Given the description of an element on the screen output the (x, y) to click on. 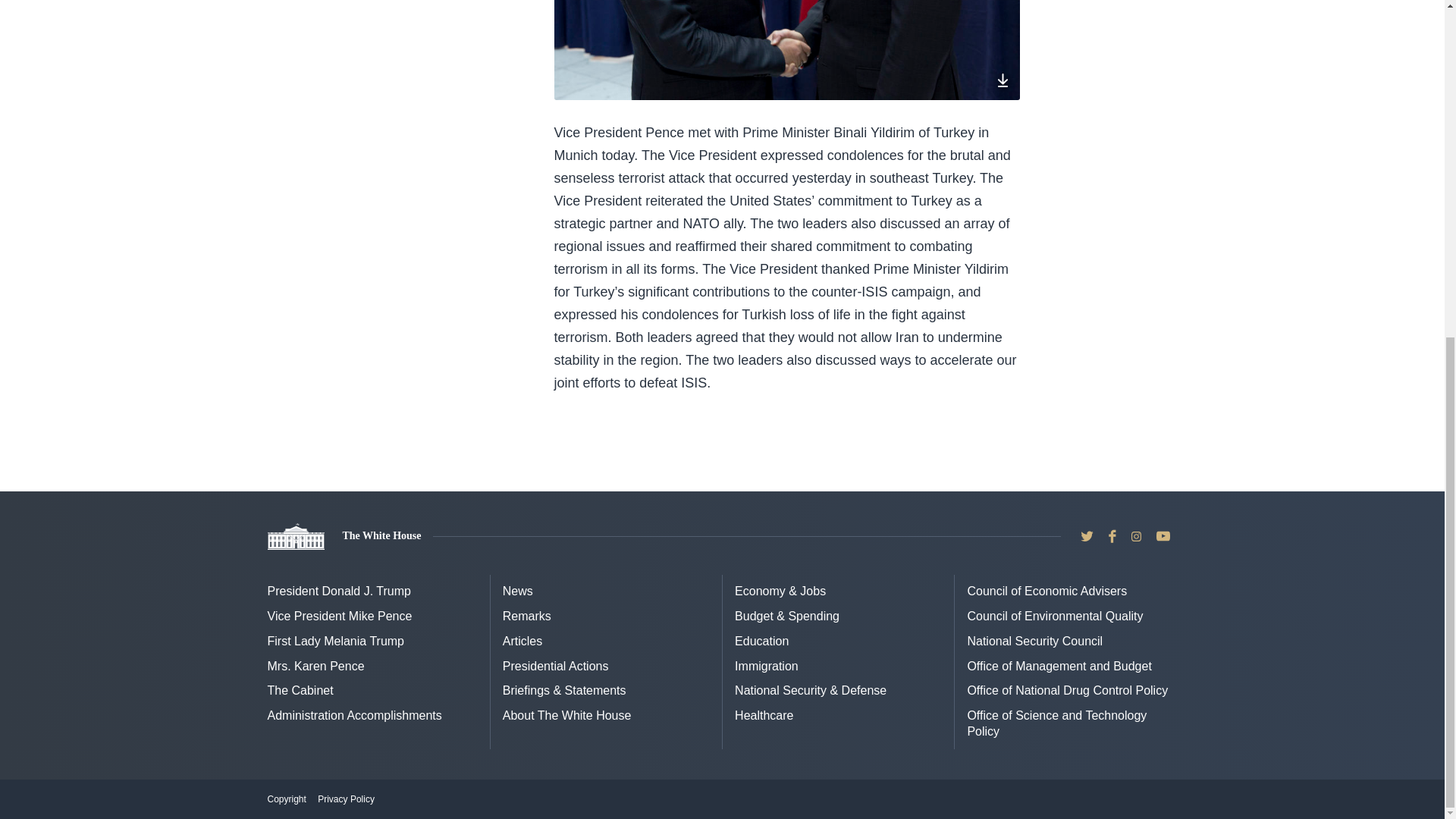
Education (762, 640)
Presidential Actions (555, 666)
Mrs. Karen Pence (315, 666)
Articles (521, 640)
The Cabinet (299, 689)
Remarks (526, 615)
Administration Accomplishments (353, 715)
Vice President Mike Pence (339, 615)
About The White House (566, 715)
News (517, 590)
Healthcare (764, 715)
First Lady Melania Trump (335, 640)
Immigration (766, 666)
President Donald J. Trump (338, 590)
